Given the description of an element on the screen output the (x, y) to click on. 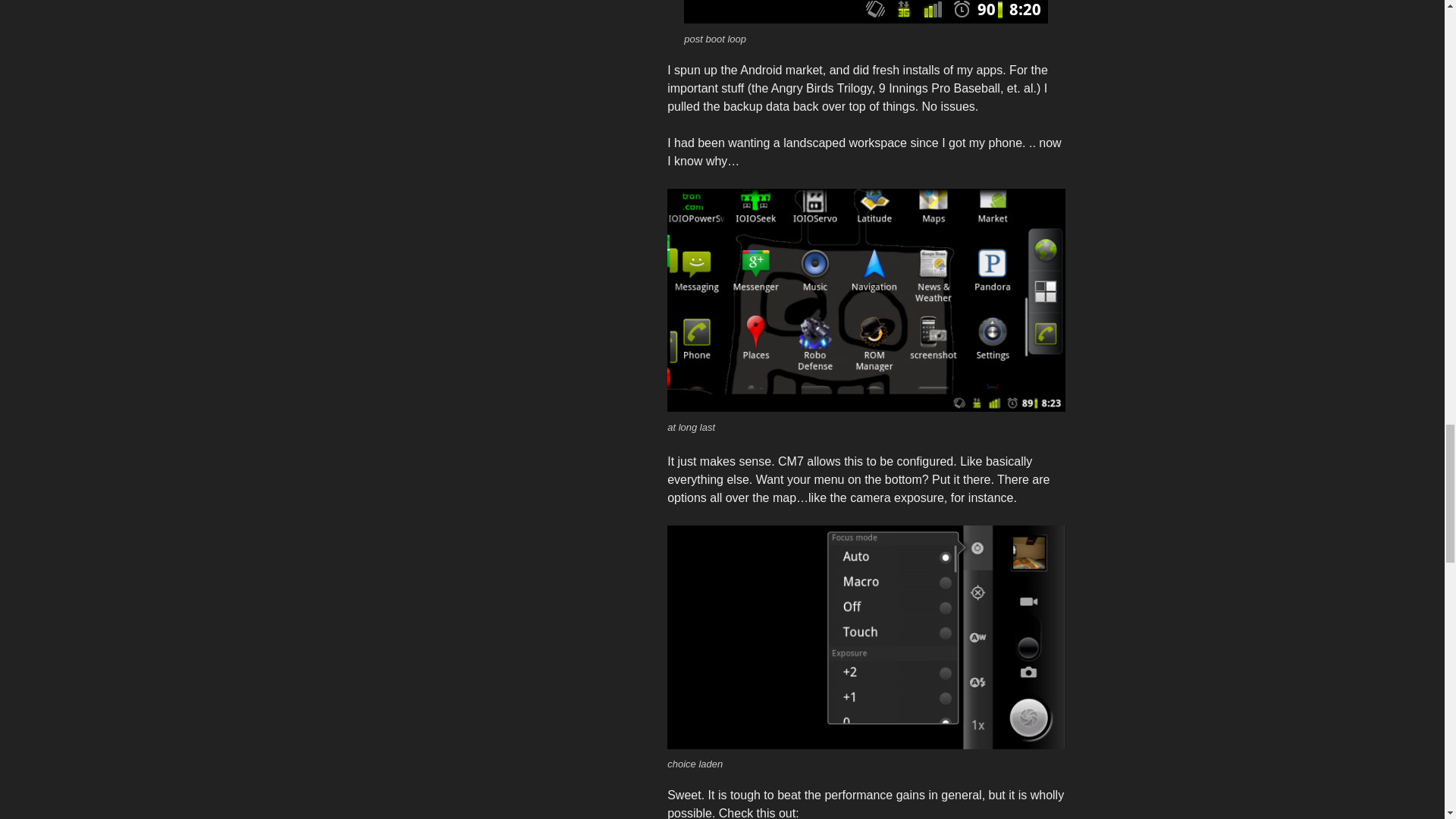
cyanogenmod7-landscape (865, 300)
cyanogenmod71-camera (865, 636)
cyanogenmod7-droid2 (866, 11)
